Given the description of an element on the screen output the (x, y) to click on. 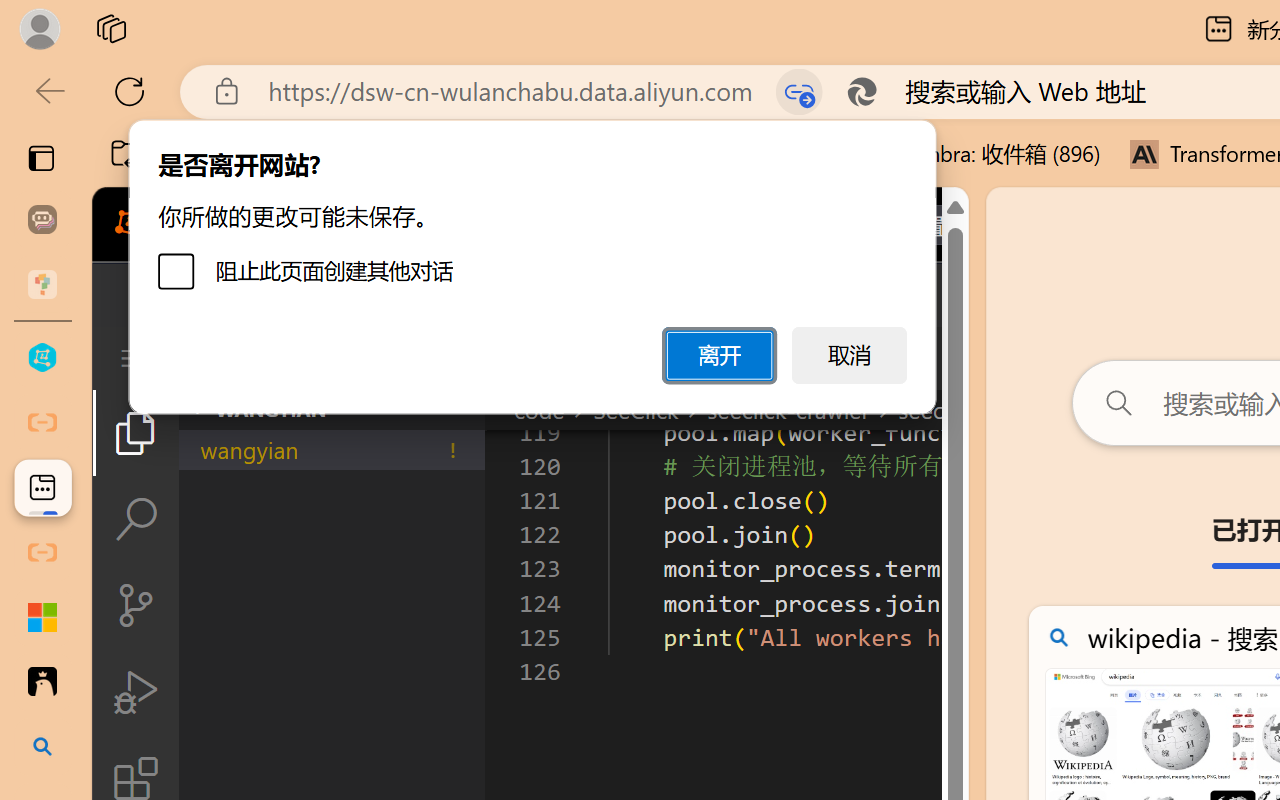
Insert Captions (988, 114)
Subtitle Settings (884, 132)
Color & Contrast (392, 168)
Check Accessibility (42, 114)
Link Text (702, 138)
Mark as Decorative (634, 114)
Group (701, 87)
Shape Outline (286, 114)
Slide Title (476, 94)
